Given the description of an element on the screen output the (x, y) to click on. 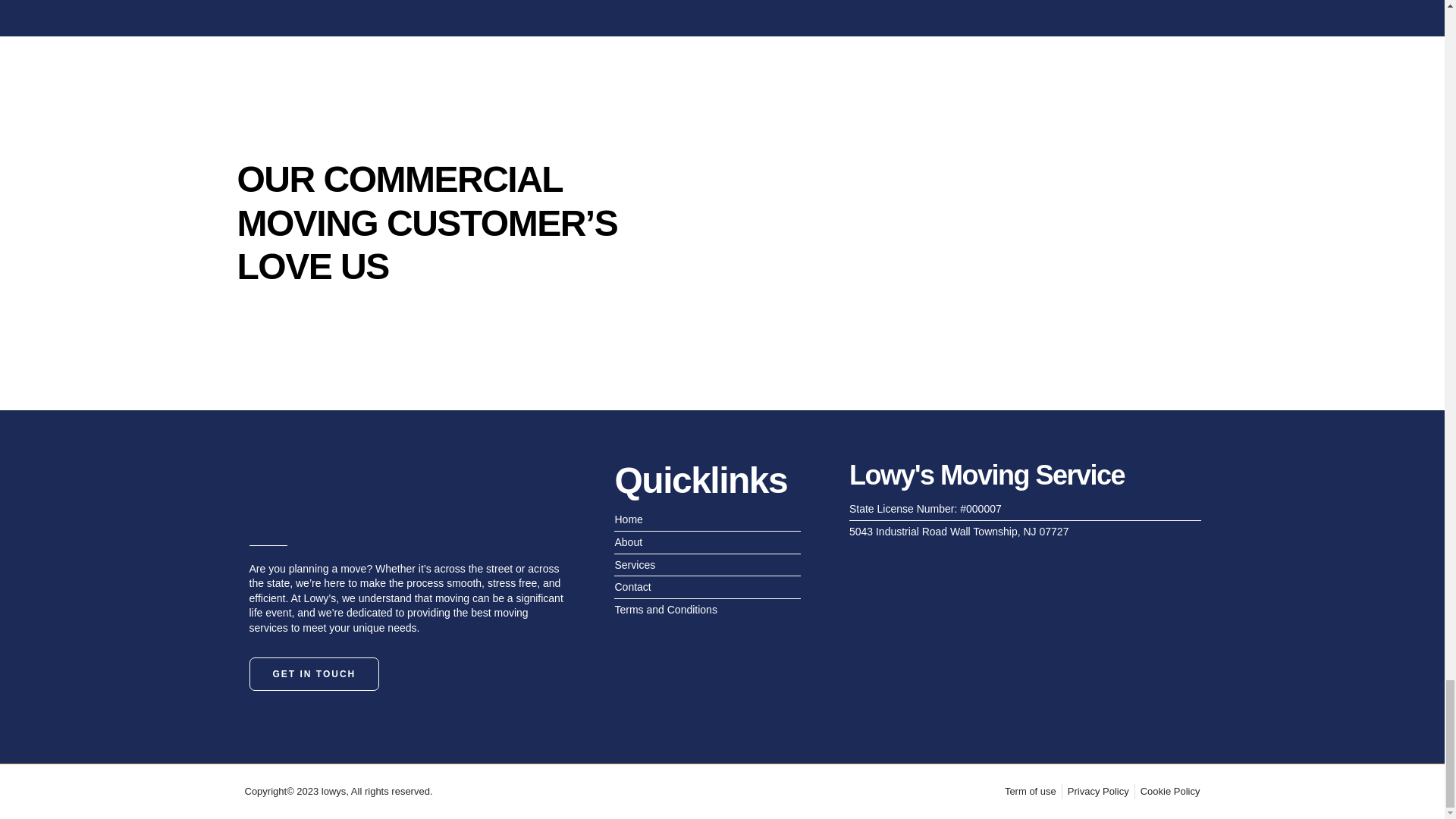
Terms and Conditions (706, 610)
GET IN TOUCH (313, 674)
Contact (706, 587)
5043 Industrial Road Wall Township, NJ 07727 (1024, 531)
About (706, 542)
Privacy Policy (1098, 791)
Services (706, 565)
Cookie Policy (1169, 791)
Home (706, 519)
Term of use (1030, 791)
